Given the description of an element on the screen output the (x, y) to click on. 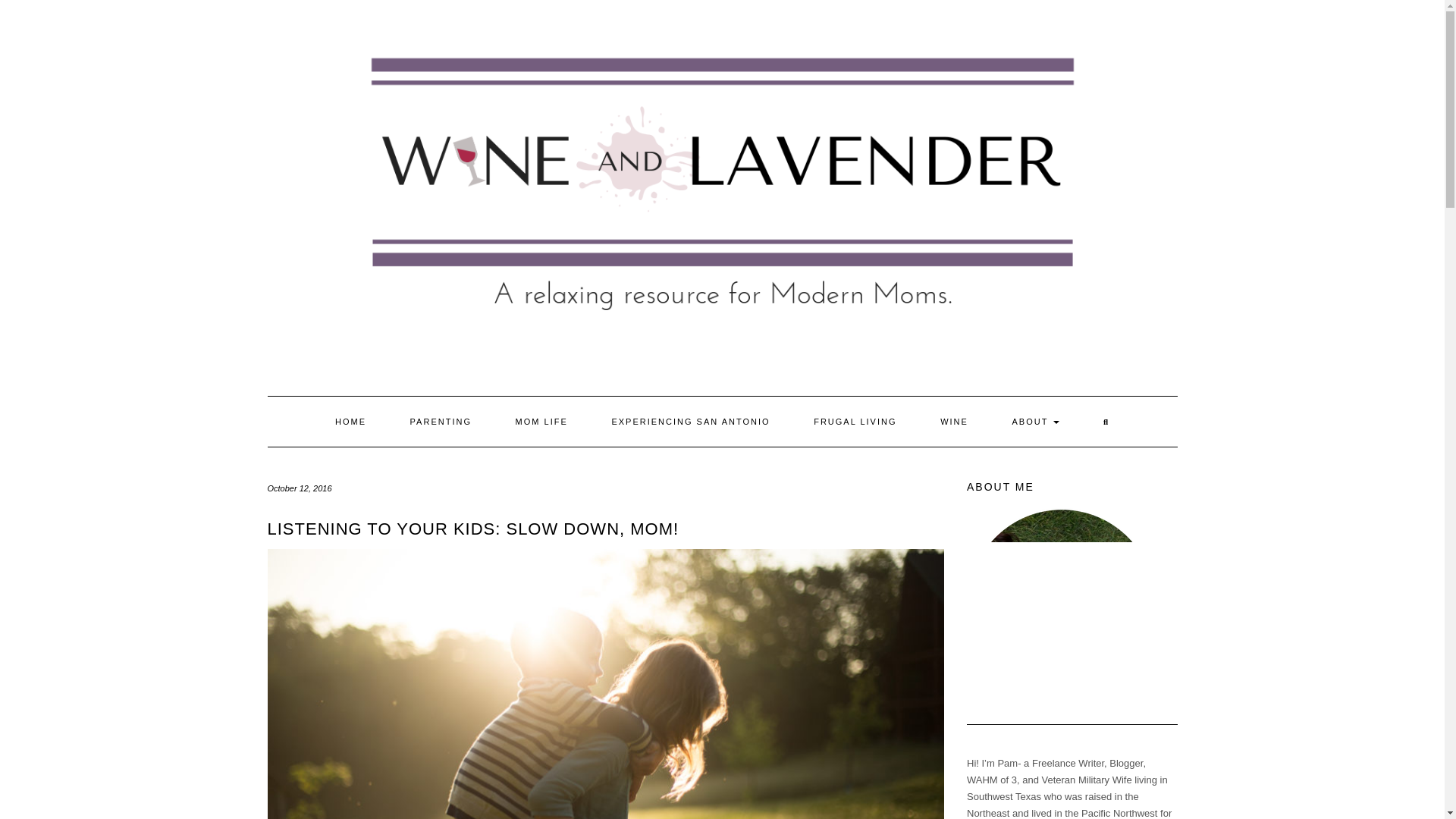
HOME (350, 421)
EXPERIENCING SAN ANTONIO (690, 421)
ABOUT (1035, 421)
PARENTING (441, 421)
FRUGAL LIVING (855, 421)
MOM LIFE (541, 421)
WINE (954, 421)
